Given the description of an element on the screen output the (x, y) to click on. 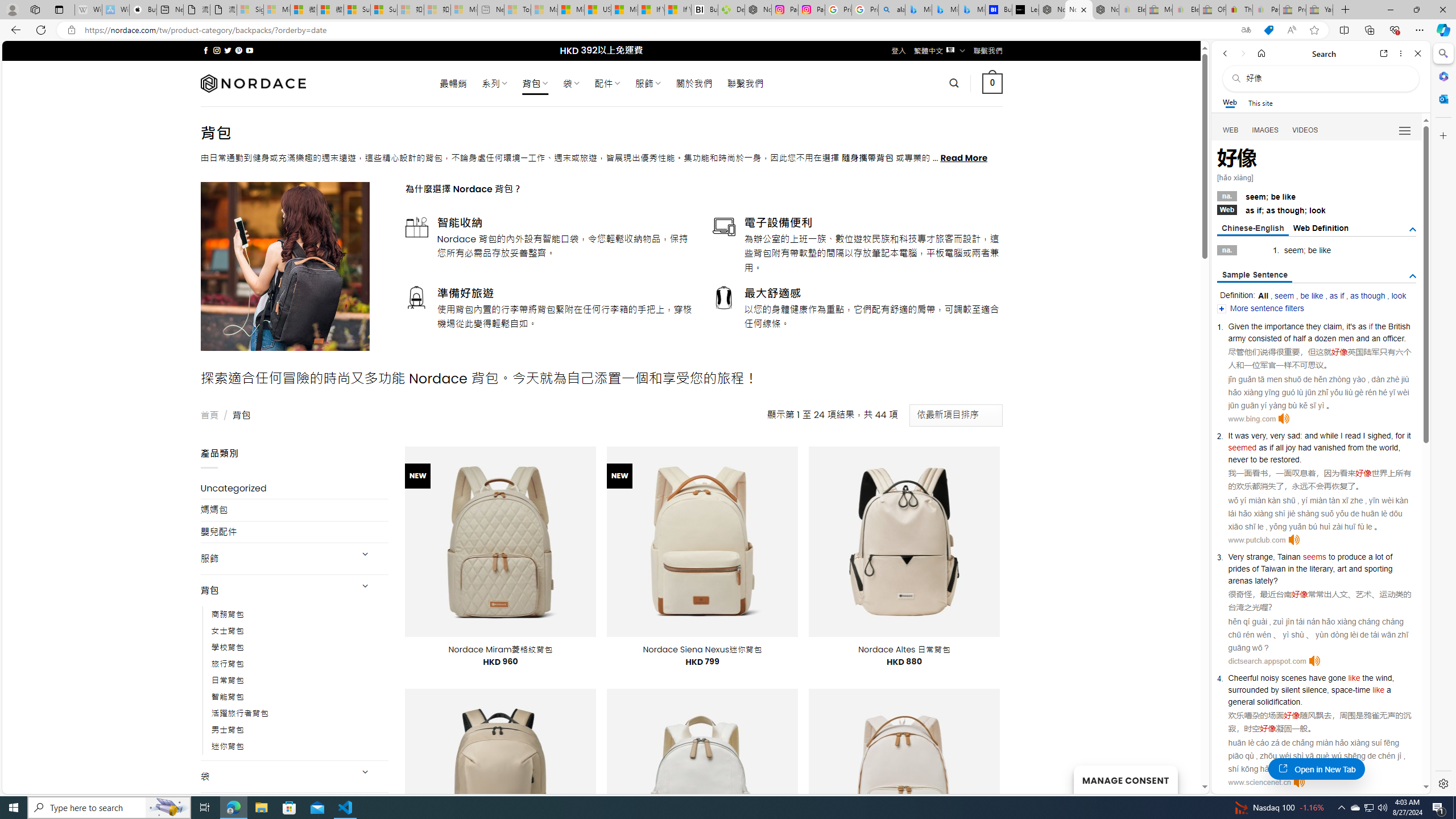
Preferences (1403, 129)
Search Filter, IMAGES (1265, 129)
look (1398, 295)
dictsearch.appspot.com (1266, 660)
, (1327, 689)
all (1279, 447)
